Given the description of an element on the screen output the (x, y) to click on. 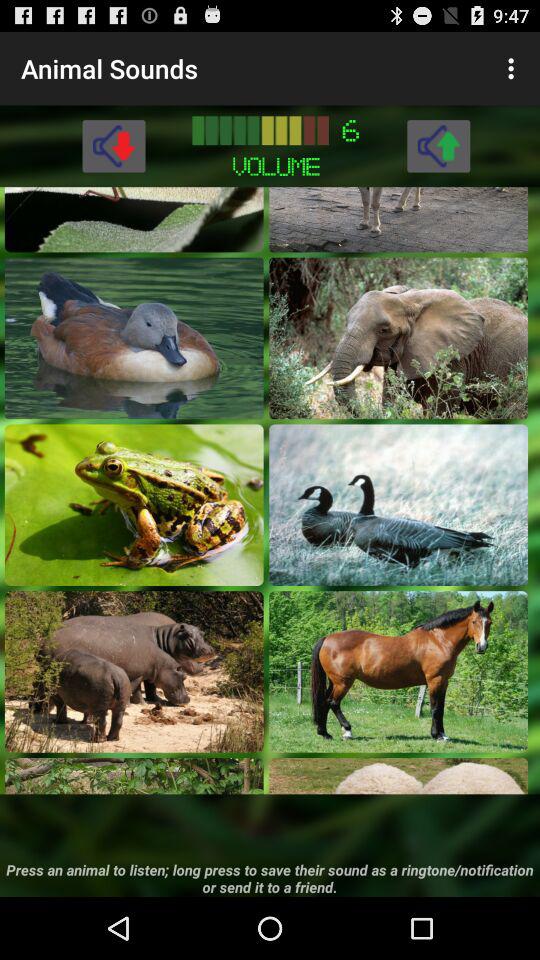
raise volume (438, 145)
